Given the description of an element on the screen output the (x, y) to click on. 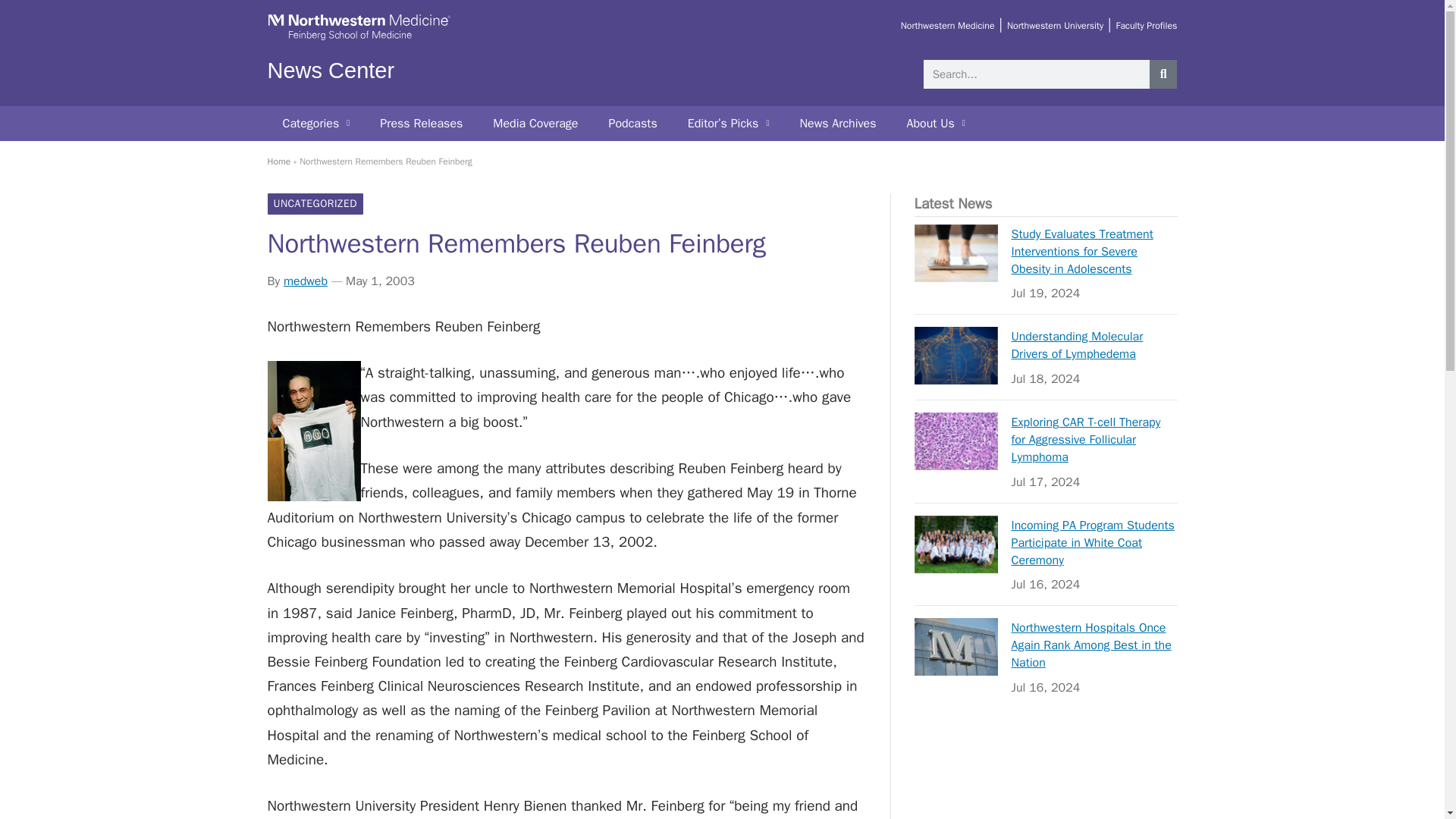
Media Coverage (534, 123)
Podcasts (631, 123)
Posts by medweb (305, 281)
Northwestern University (1055, 25)
Faculty Profiles (1145, 25)
News Archives (837, 123)
Northwestern Medicine (947, 25)
About Us (935, 123)
Press Releases (421, 123)
News Center (330, 70)
Categories (315, 123)
